Given the description of an element on the screen output the (x, y) to click on. 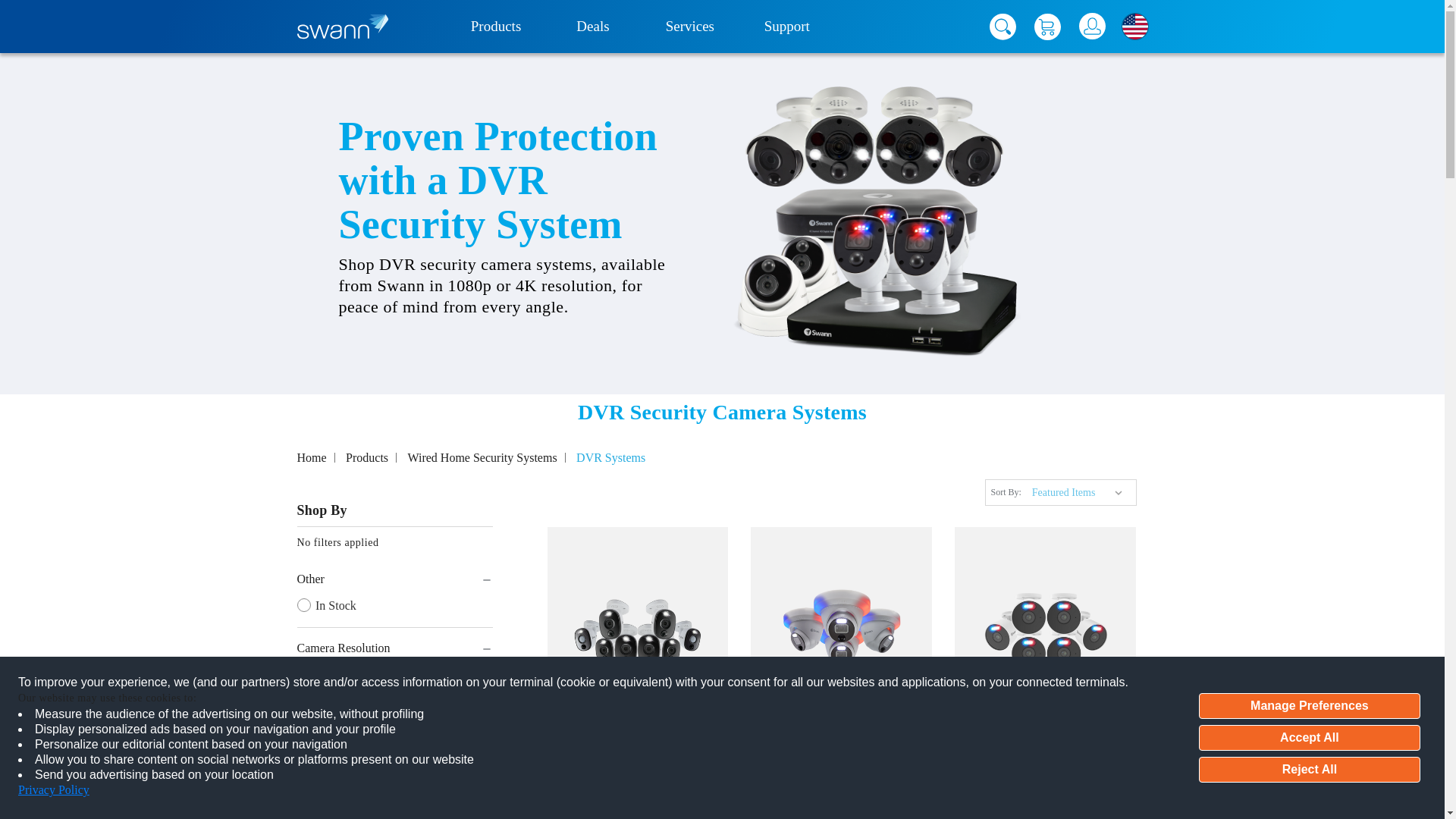
Products (495, 26)
Privacy Policy (52, 789)
Reject All (1309, 769)
swann logo (343, 26)
Manage Preferences (1309, 705)
Accept All (1309, 737)
